Given the description of an element on the screen output the (x, y) to click on. 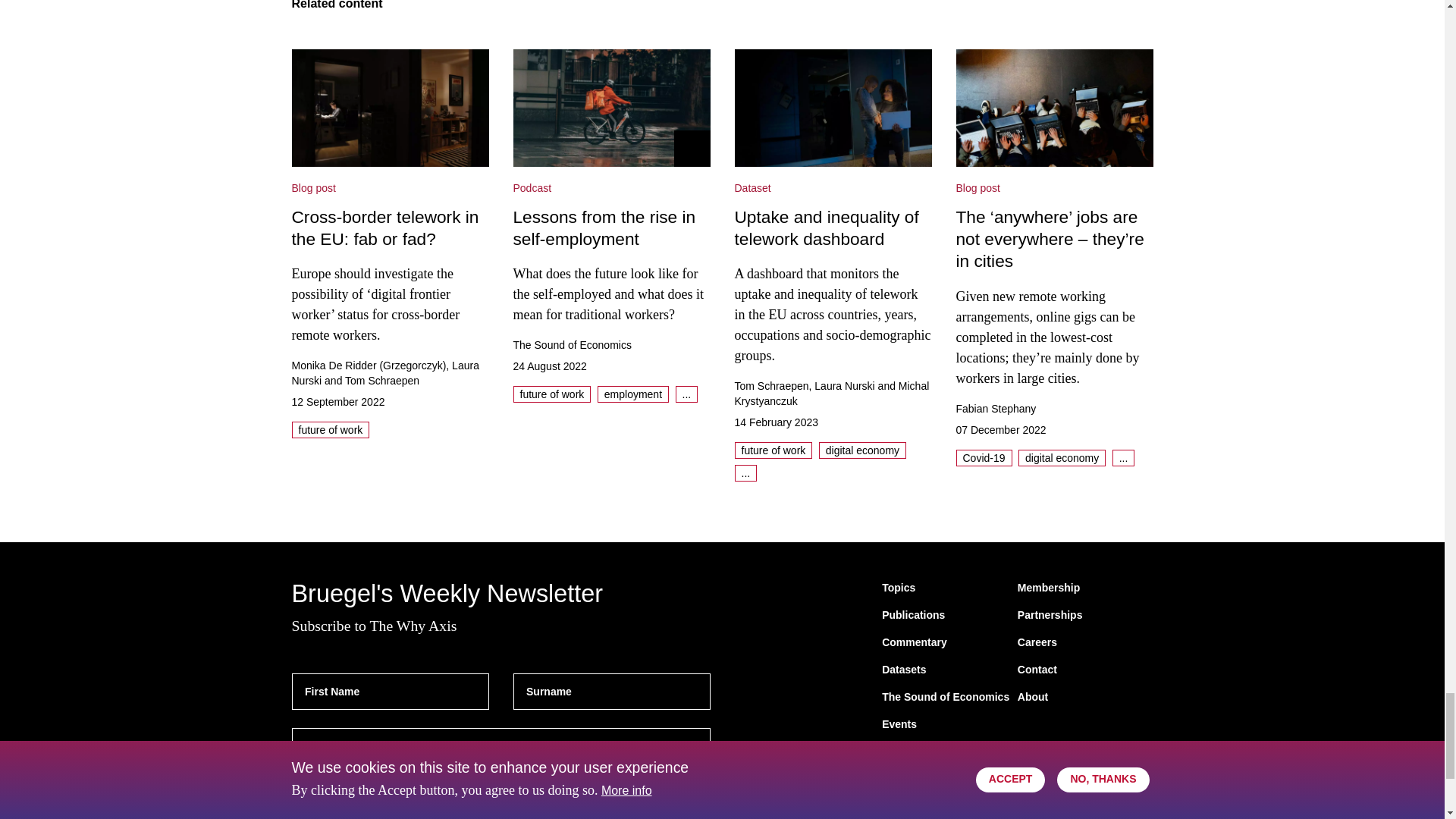
Topics (898, 588)
Uptake and inequality of telework dashboard (832, 108)
Lessons from the rise in self-employment (611, 108)
Cross-border telework in the EU: fab or fad? (389, 108)
